Given the description of an element on the screen output the (x, y) to click on. 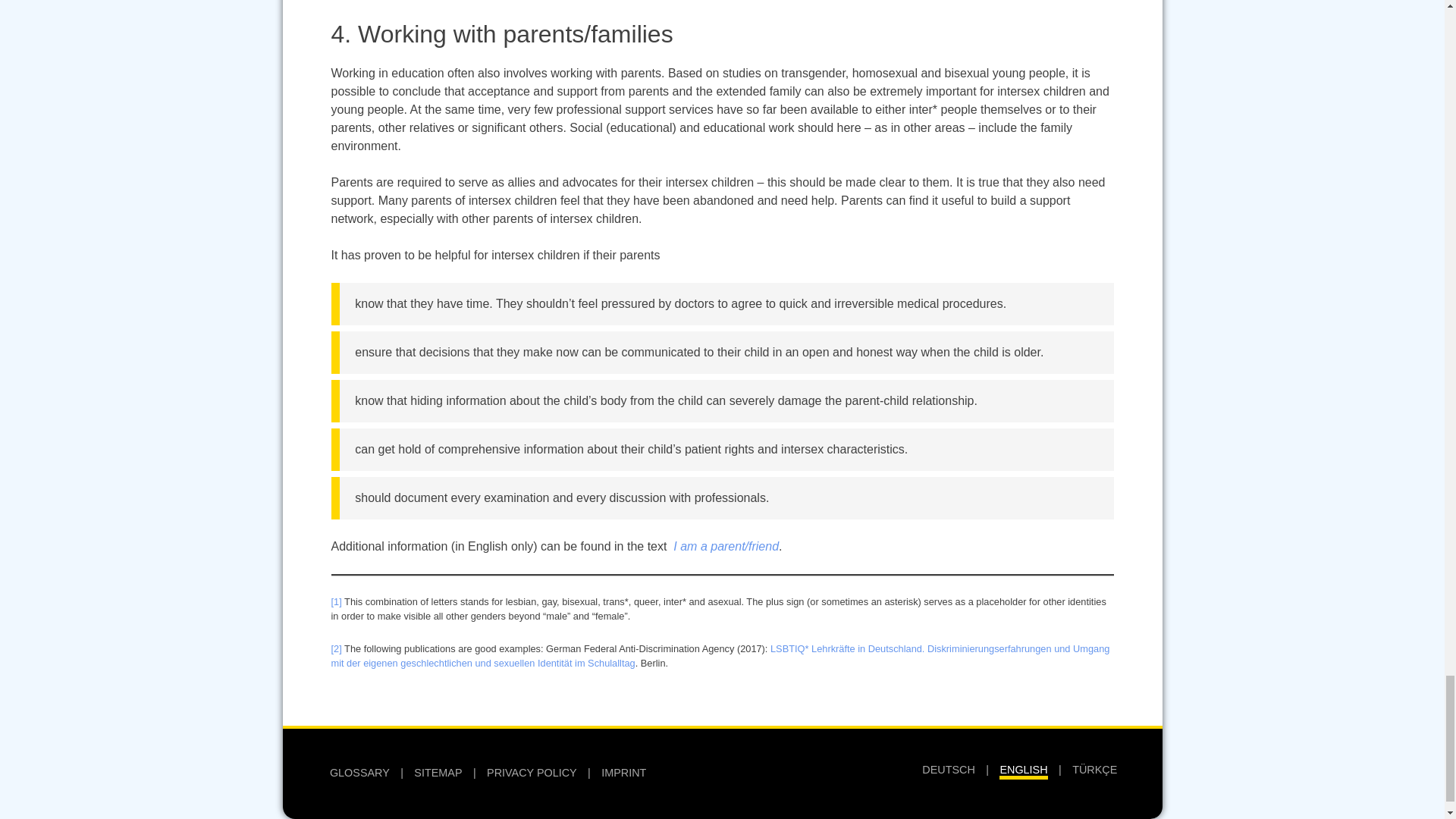
PRIVACY POLICY (531, 772)
SITEMAP (437, 772)
ENGLISH (1022, 771)
DEUTSCH (948, 769)
IMPRINT (623, 772)
GLOSSARY (360, 772)
